Given the description of an element on the screen output the (x, y) to click on. 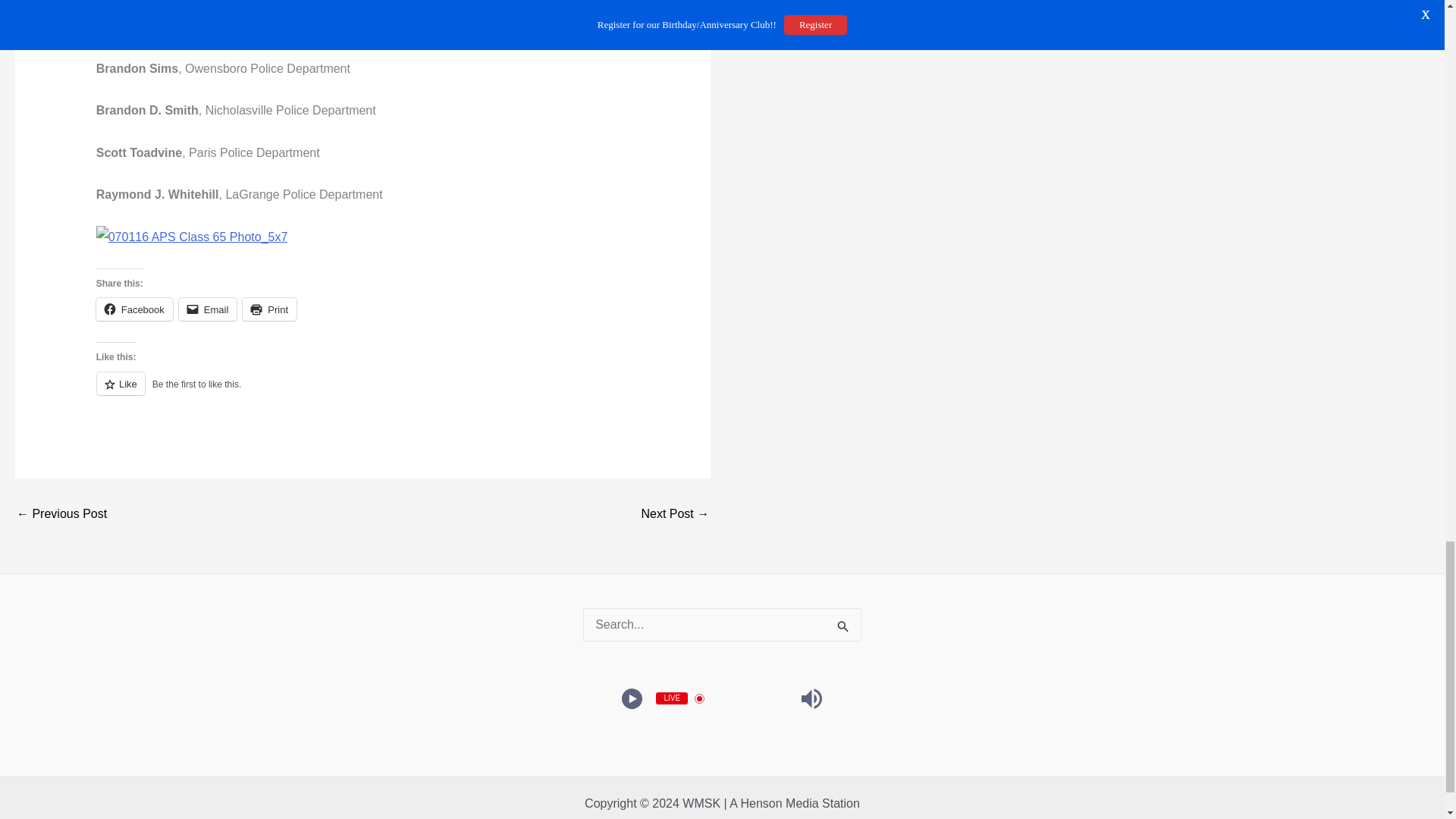
Click to share on Facebook (134, 309)
Play (632, 698)
Click to email a link to a friend (208, 309)
Click to print (270, 309)
KSP Post 2 Traffic Safety Checkpoint Locations (674, 513)
Like or Reblog (363, 392)
